Given the description of an element on the screen output the (x, y) to click on. 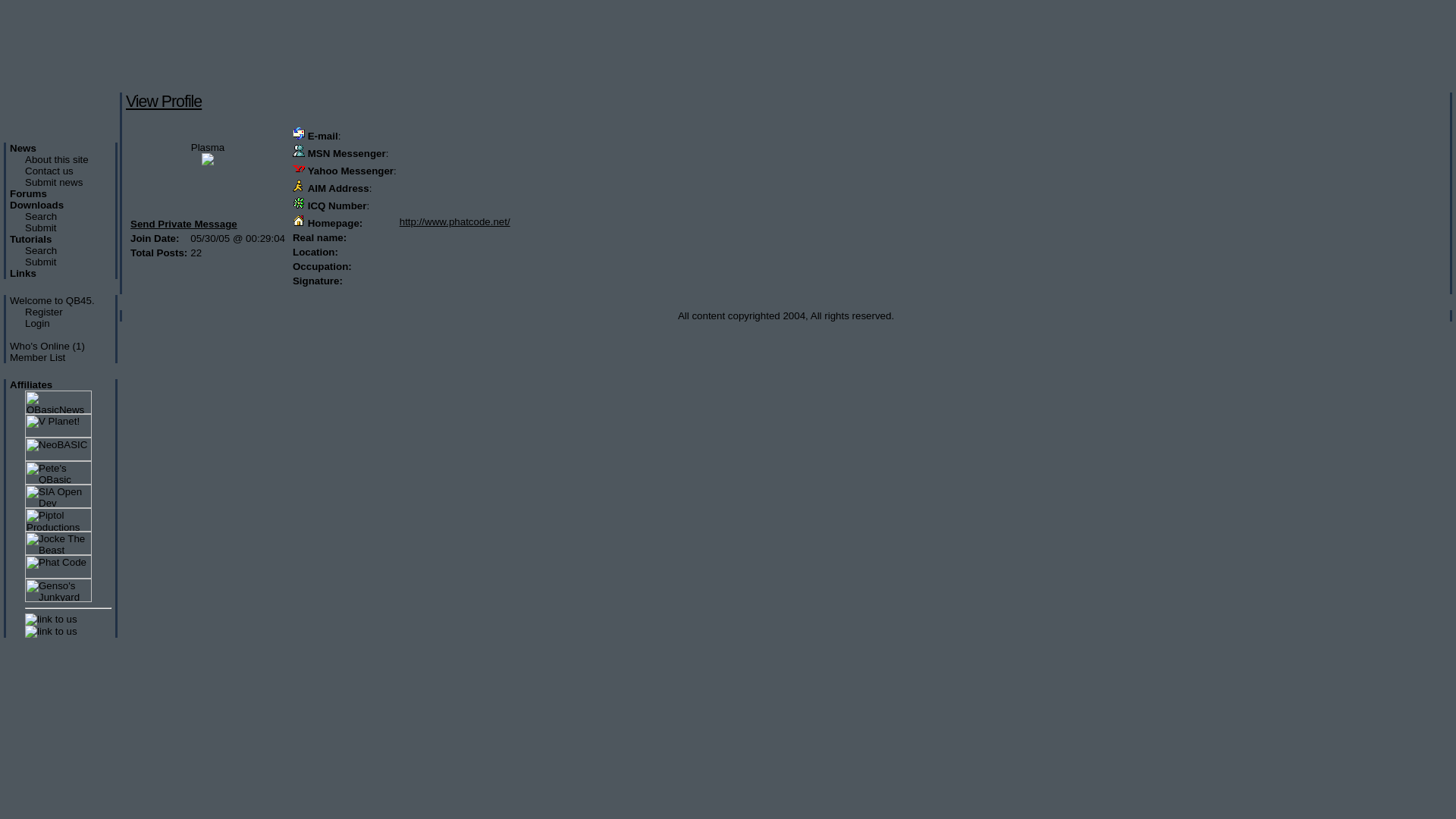
Contact us Element type: text (49, 170)
Forums Element type: text (28, 193)
Send Private Message Element type: text (183, 223)
Search Element type: text (40, 250)
Register Element type: text (43, 311)
About this site Element type: text (56, 159)
Login Element type: text (37, 323)
Links Element type: text (22, 273)
Submit Element type: text (40, 227)
Submit news Element type: text (53, 182)
Tutorials Element type: text (30, 238)
Submit Element type: text (40, 261)
Search Element type: text (40, 216)
http://www.phatcode.net/ Element type: text (454, 221)
Member List Element type: text (37, 357)
Downloads Element type: text (36, 204)
News Element type: text (22, 147)
Who's Online Element type: text (39, 345)
Affiliates Element type: text (30, 384)
